Given the description of an element on the screen output the (x, y) to click on. 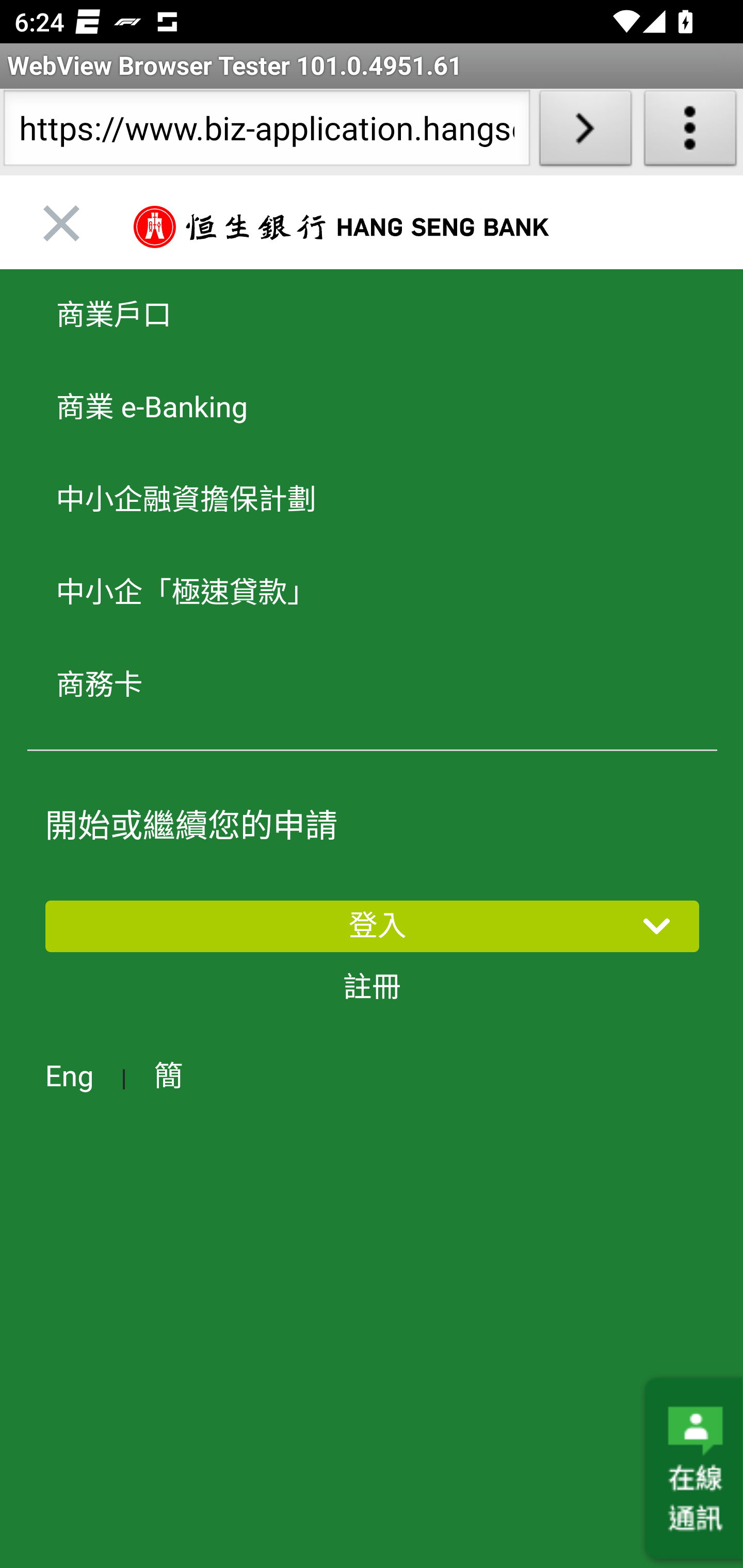
Load URL (585, 132)
About WebView (690, 132)
商業戶口 (371, 316)
商業 e-Banking (371, 407)
中小企融資擔保計劃 (371, 500)
中小企「極速貸款」 (371, 592)
商務卡 (371, 684)
登入 (371, 925)
註冊 (372, 987)
Eng (69, 1076)
簡 (168, 1076)
在線通訊 (690, 1469)
